Given the description of an element on the screen output the (x, y) to click on. 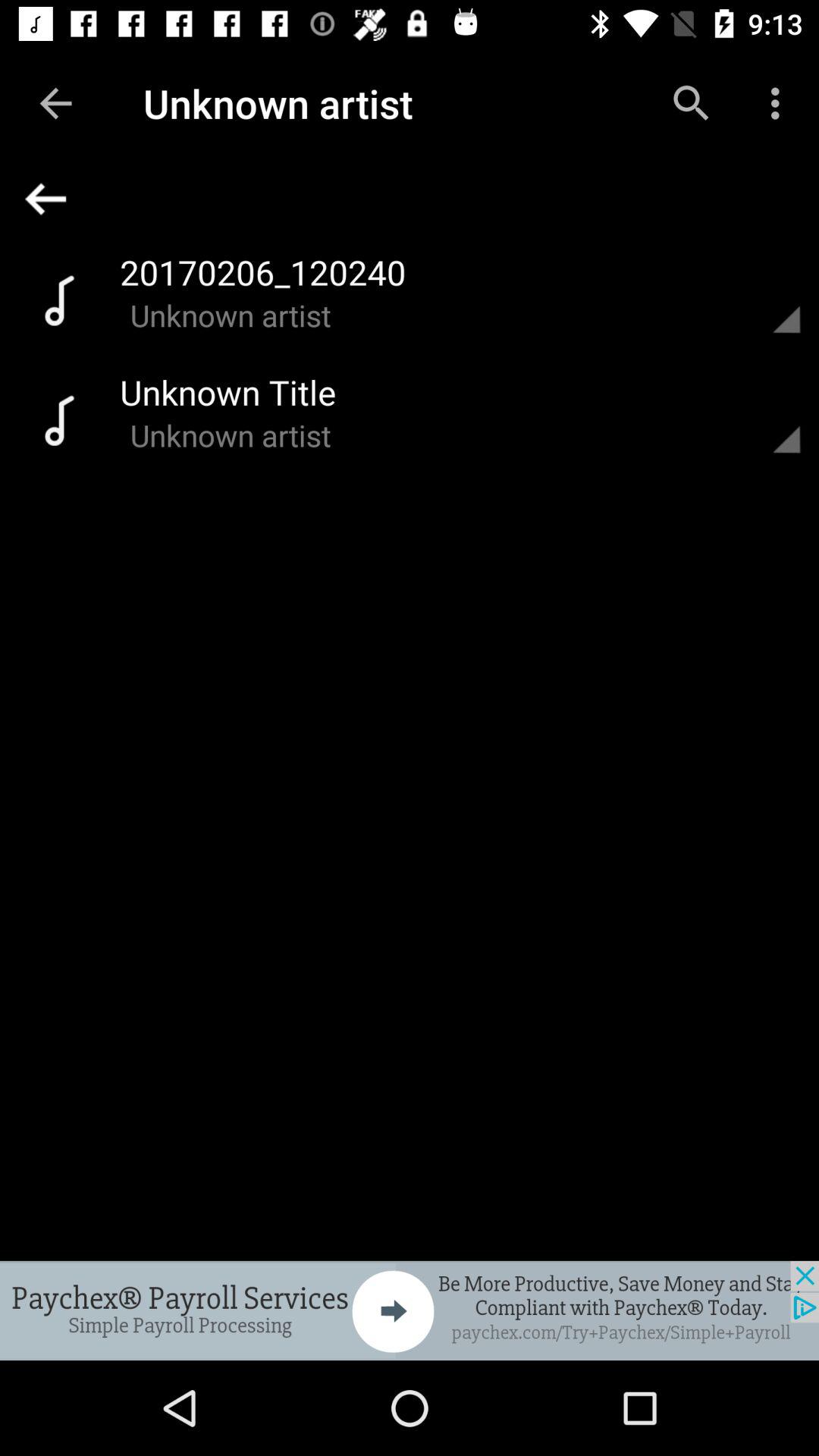
open the option menu (768, 418)
